Given the description of an element on the screen output the (x, y) to click on. 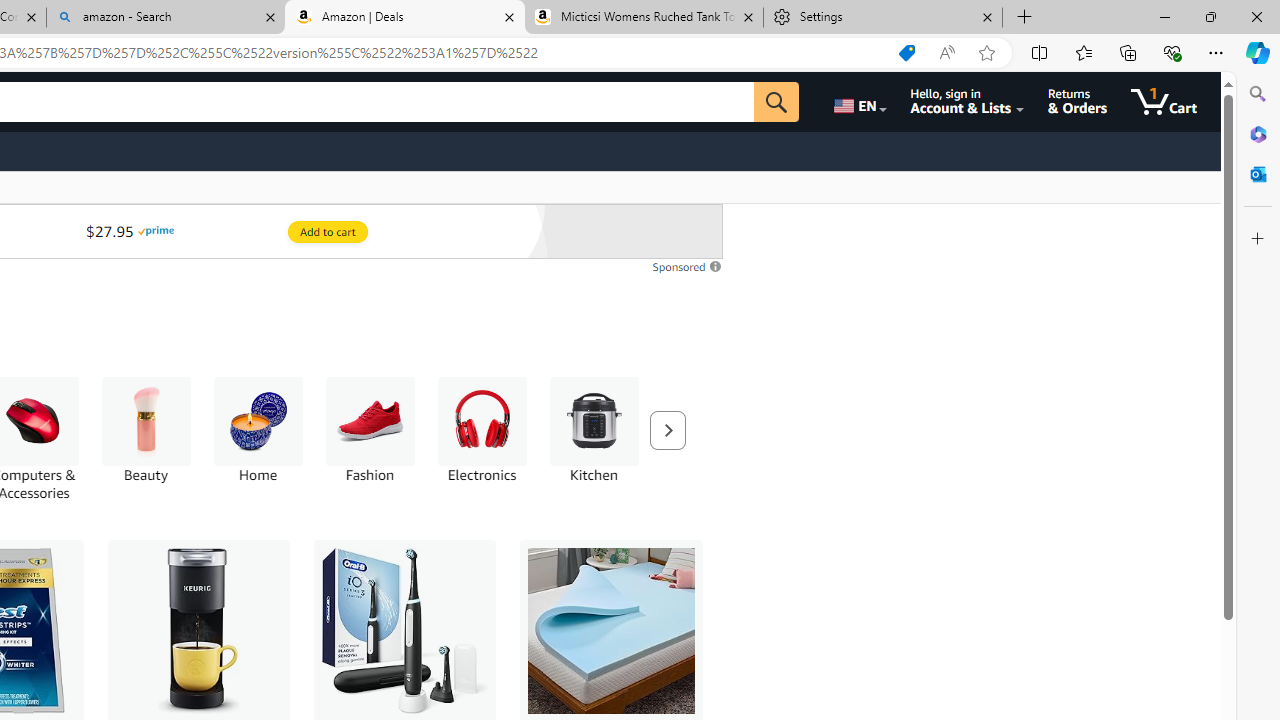
amazon - Search (166, 17)
Beauty (145, 421)
Home Home (257, 430)
Fashion (369, 439)
1 item in cart (1163, 101)
Choose a language for shopping. (858, 101)
Fashion Fashion (369, 430)
